Given the description of an element on the screen output the (x, y) to click on. 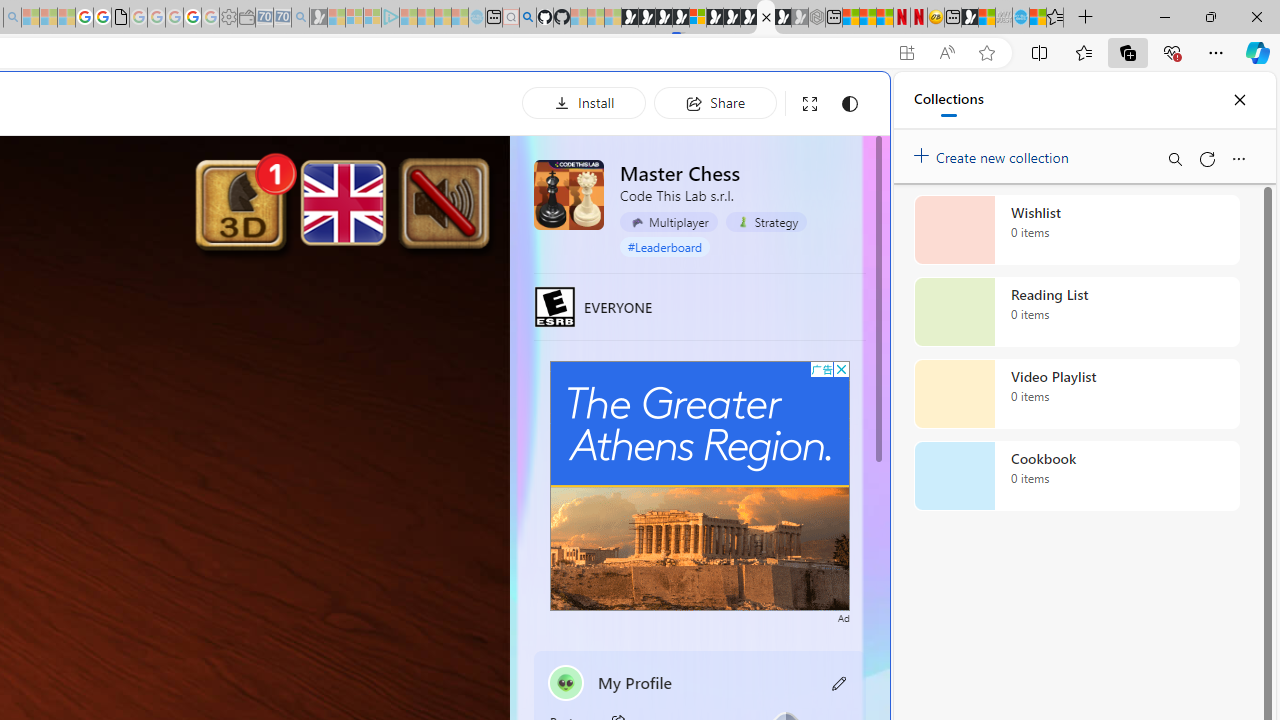
Sign in to your account (697, 17)
Advertisement (699, 485)
google_privacy_policy_zh-CN.pdf (120, 17)
Master Chess (568, 194)
Strategy (765, 221)
Multiplayer (668, 222)
App available. Install Master Chess (906, 53)
""'s avatar (565, 682)
EVERYONE (554, 306)
